Given the description of an element on the screen output the (x, y) to click on. 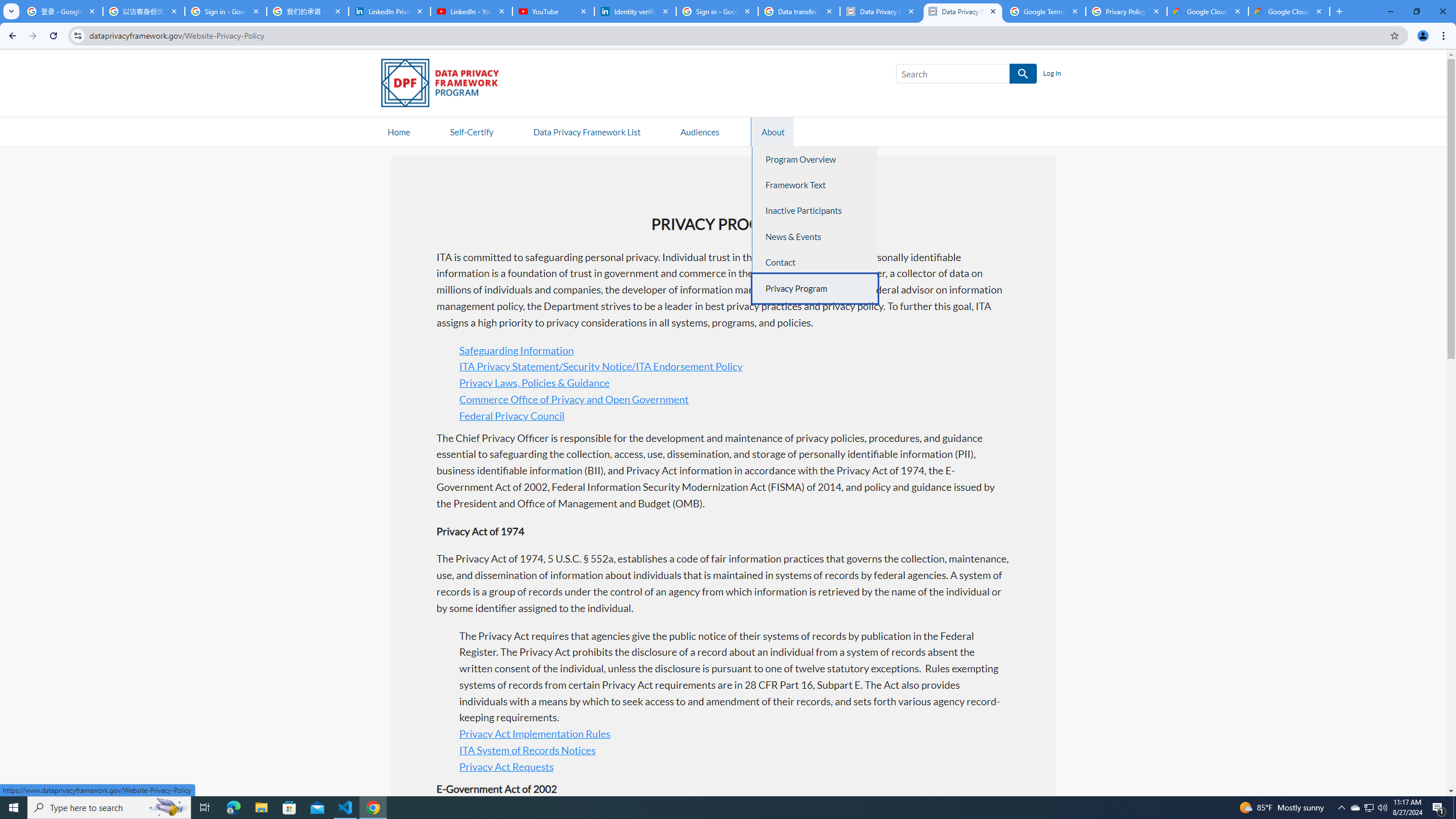
Google Cloud Privacy Notice (1207, 11)
Sign in - Google Accounts (716, 11)
YouTube (552, 11)
Privacy Program (815, 288)
Search SEARCH (965, 75)
Data Privacy Framework (880, 11)
Federal Privacy Council (511, 414)
ITA Privacy Statement/Security Notice/ITA Endorsement Policy (600, 366)
ITA System of Records Notices (526, 749)
